Given the description of an element on the screen output the (x, y) to click on. 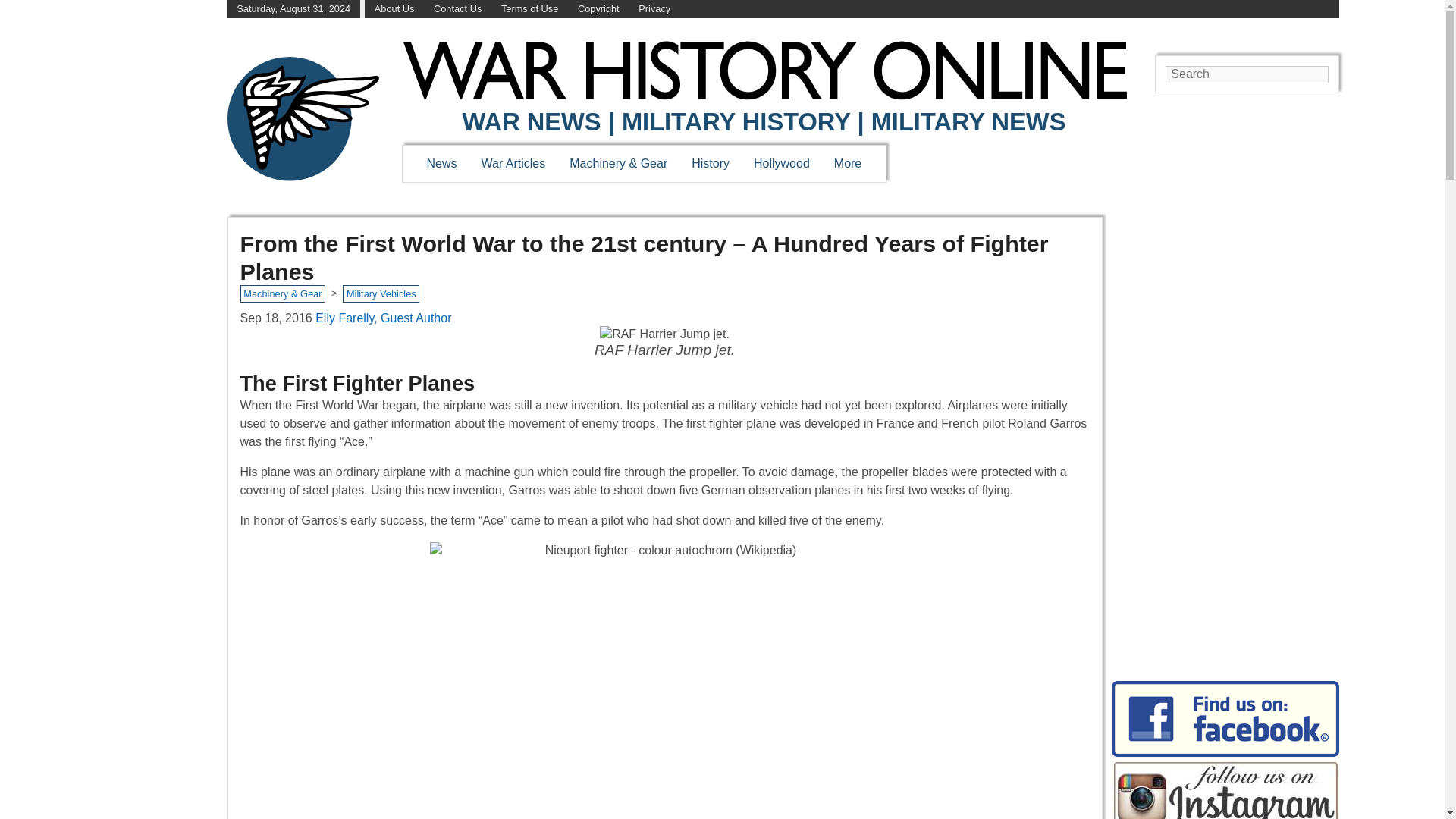
Contact Us (457, 8)
Terms of Use (528, 8)
Privacy (654, 8)
Copyright (599, 8)
War Articles (513, 163)
History (710, 163)
About Us (394, 8)
RAF Harrier Jump jet.  (664, 342)
Hollywood (781, 163)
News (441, 163)
